Given the description of an element on the screen output the (x, y) to click on. 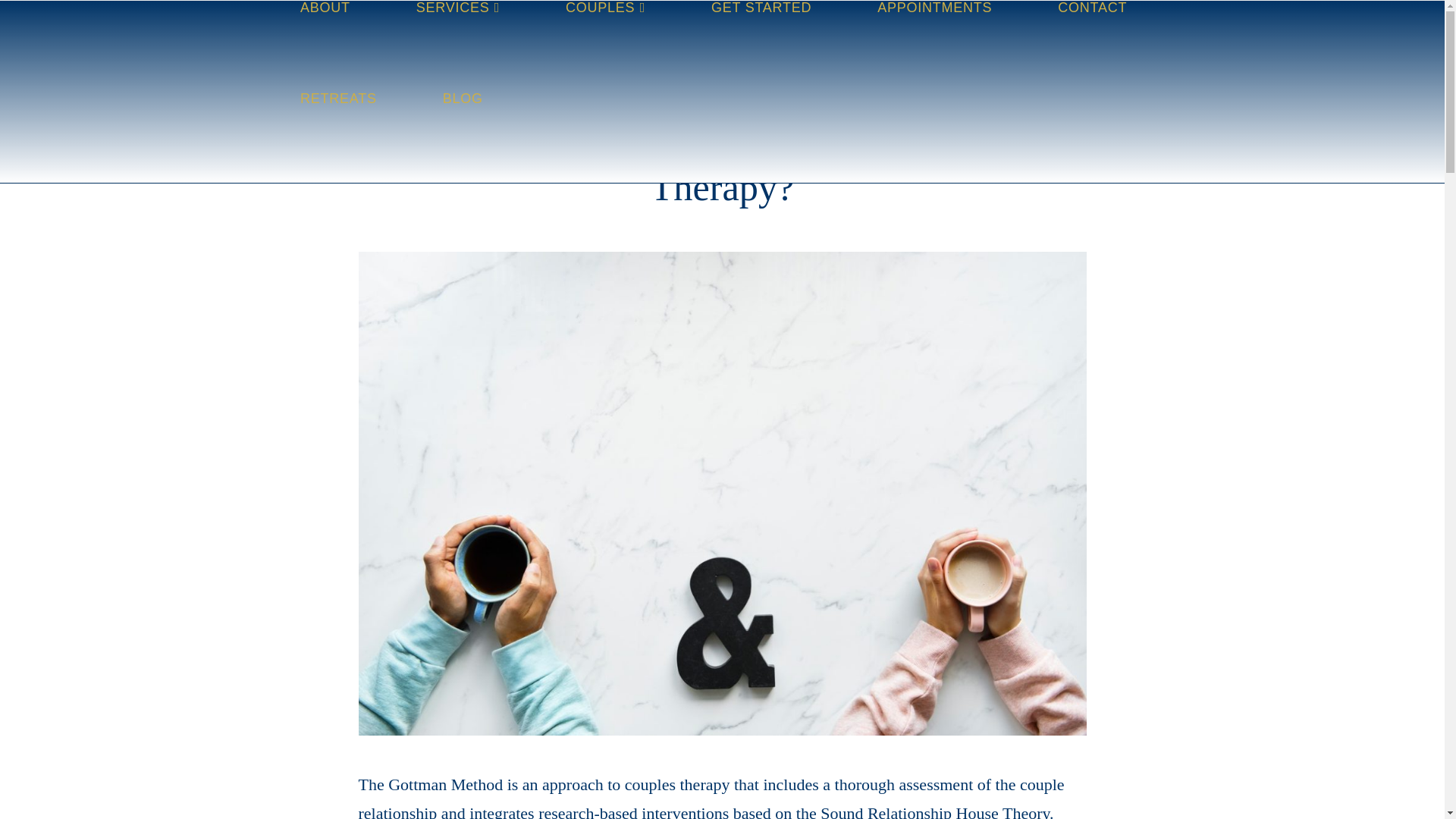
BLOG (462, 136)
ABOUT (324, 45)
RETREATS (337, 136)
COUPLES (605, 45)
CONTACT (1092, 45)
APPOINTMENTS (934, 45)
GET STARTED (761, 45)
SERVICES (457, 45)
